Given the description of an element on the screen output the (x, y) to click on. 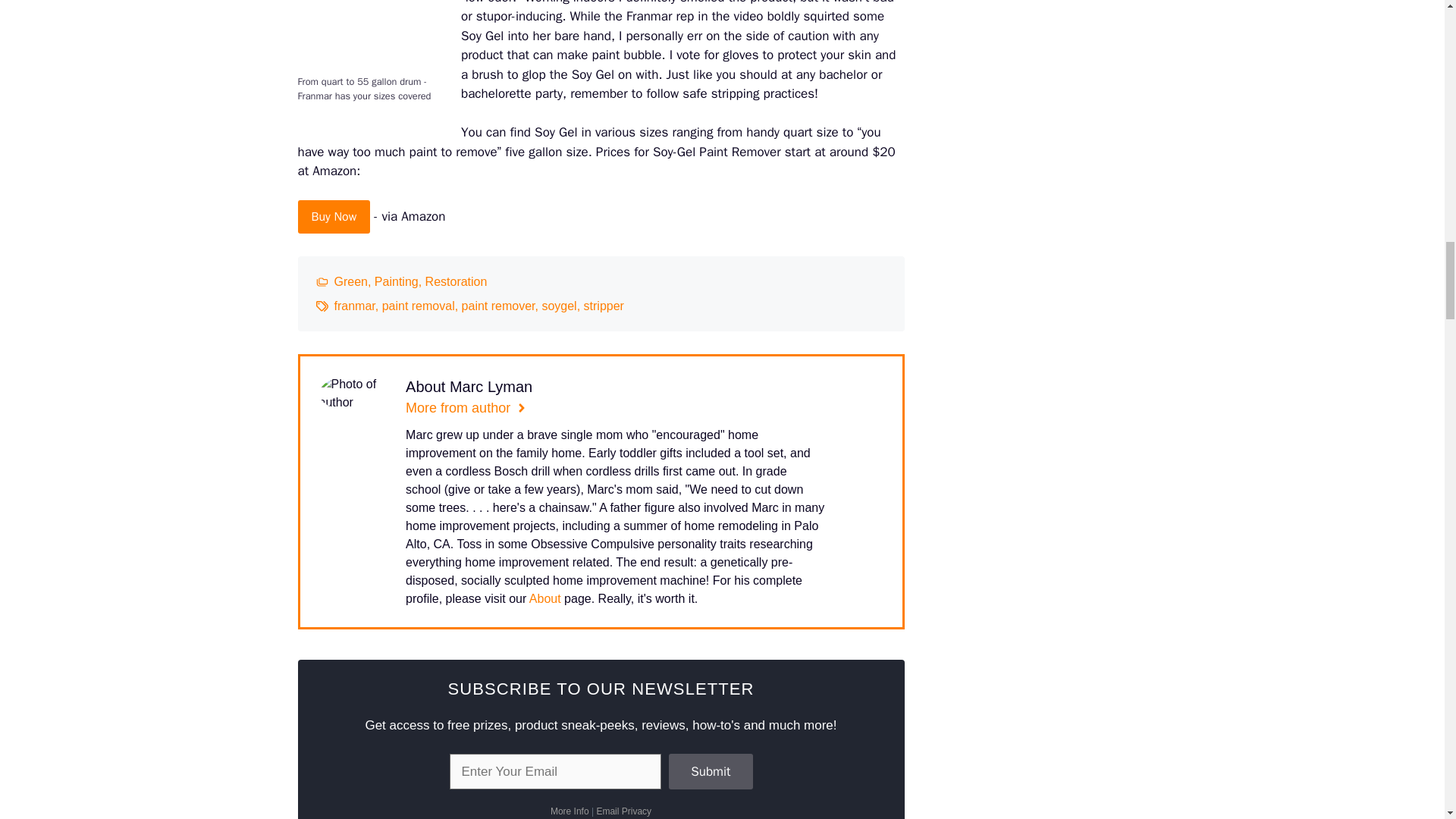
Green (349, 281)
paint remover (498, 305)
More from author (466, 408)
stripper (603, 305)
Submit (710, 771)
franmar (353, 305)
Submit (710, 771)
Email Privacy (622, 810)
paint removal (417, 305)
Buy Now (333, 216)
About (544, 598)
soygel (558, 305)
Restoration (456, 281)
Painting (396, 281)
More Info (569, 810)
